Given the description of an element on the screen output the (x, y) to click on. 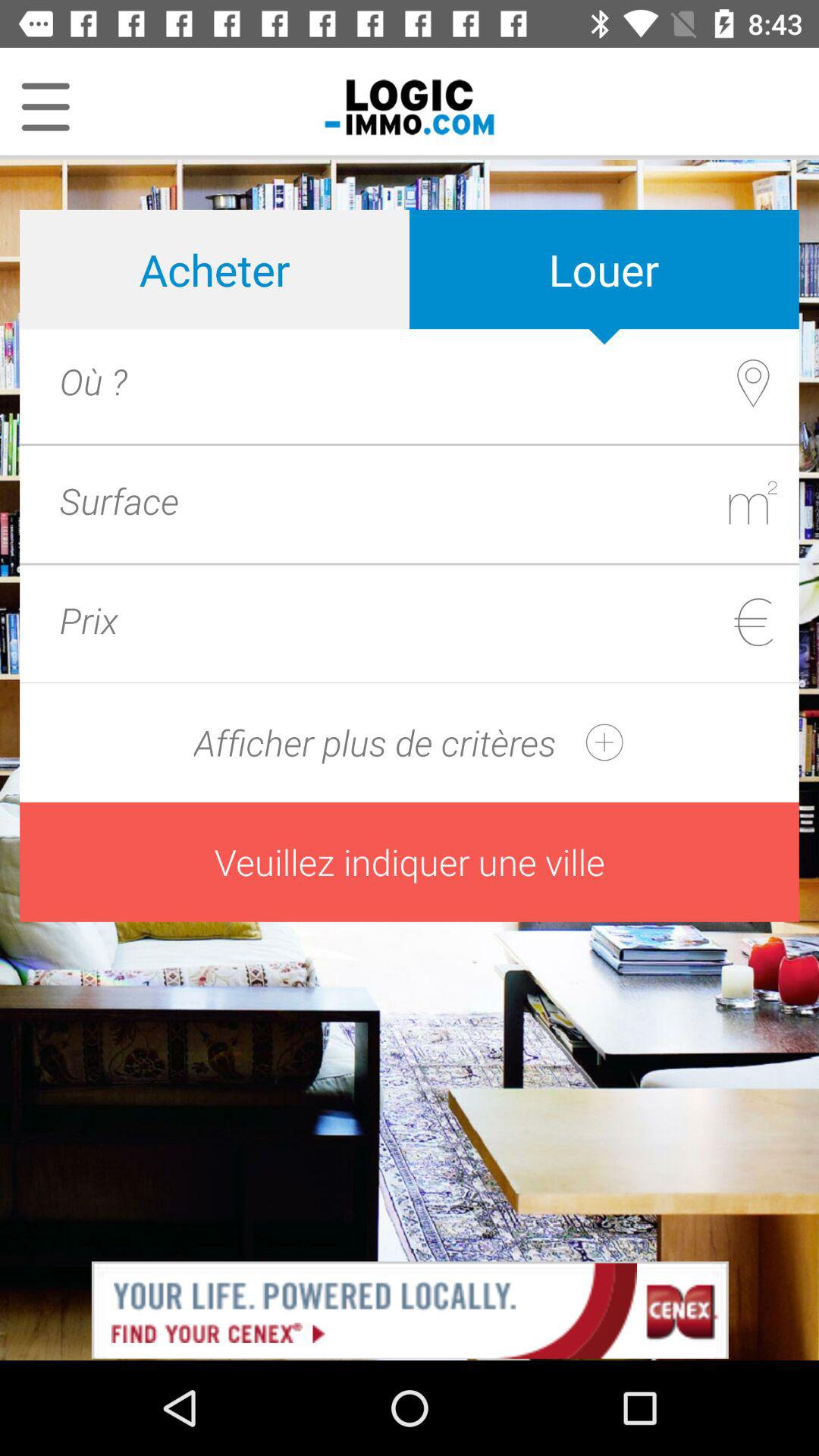
details about advertisement (409, 1308)
